Given the description of an element on the screen output the (x, y) to click on. 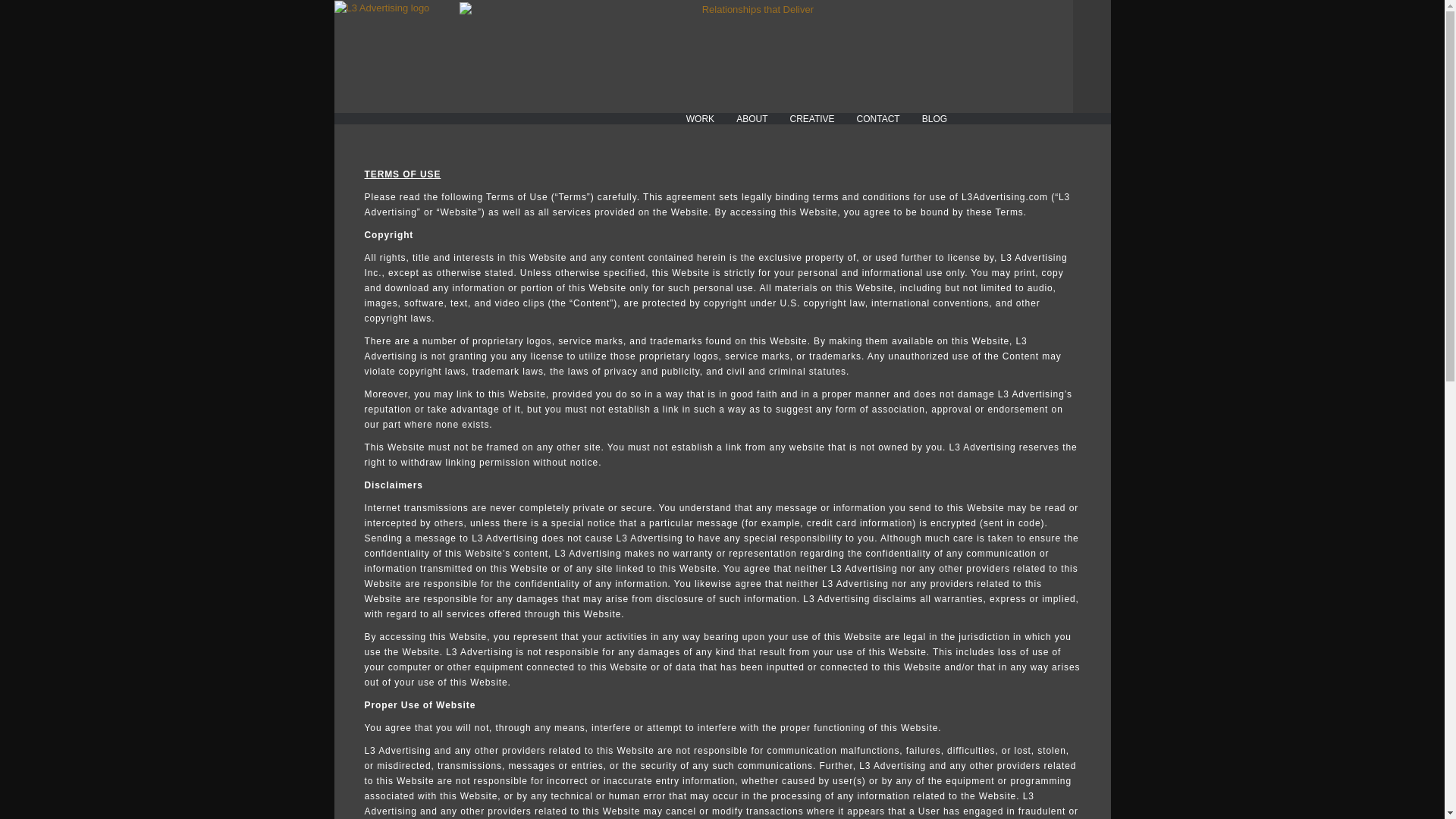
ABOUT (751, 118)
WORK (699, 118)
Back to homepage (381, 7)
